Given the description of an element on the screen output the (x, y) to click on. 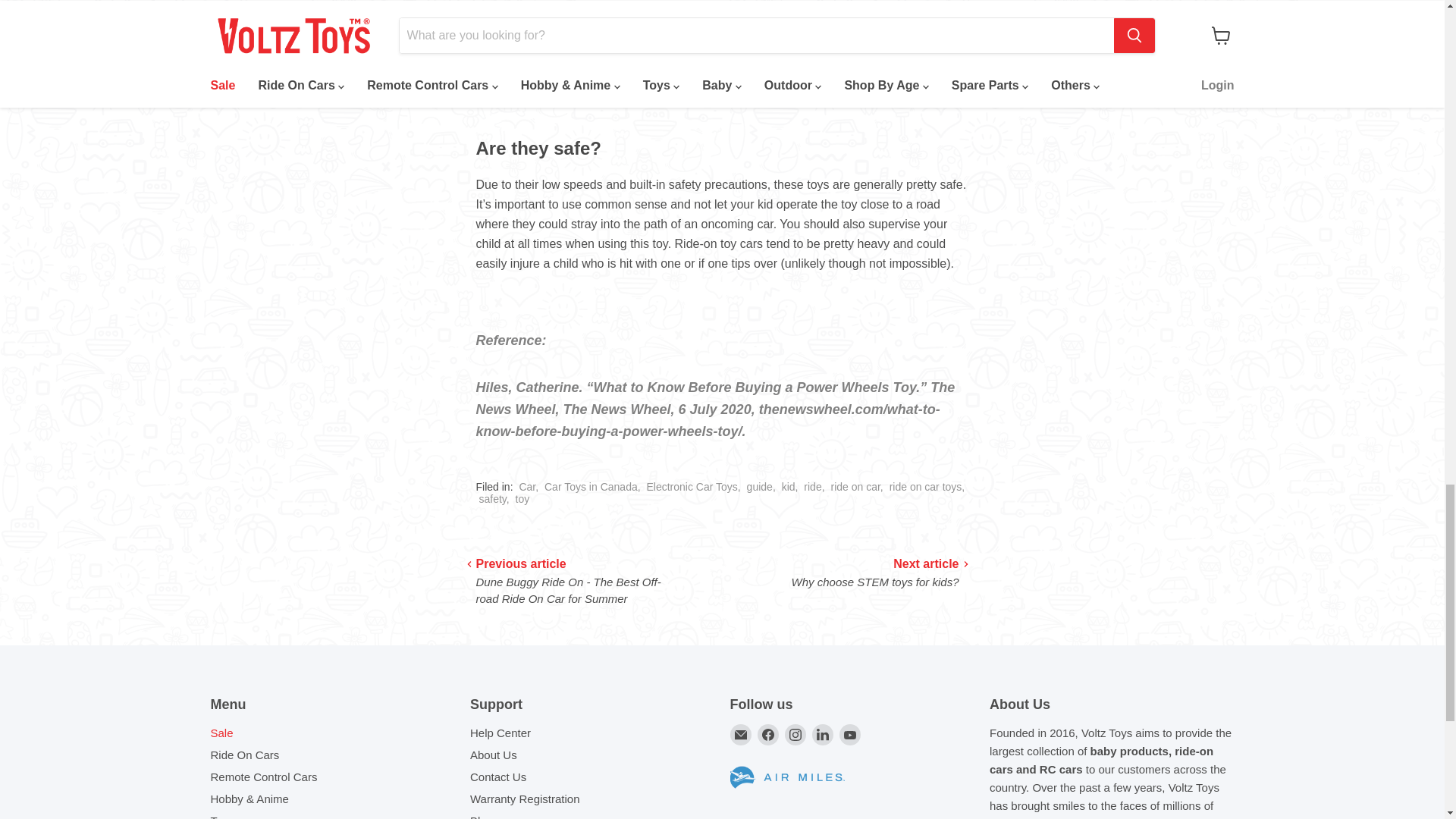
Show articles tagged Electronic Car Toys (691, 486)
Show articles tagged guide (759, 486)
Show articles tagged Car Toys in Canada (590, 486)
Show articles tagged Car (526, 486)
